Given the description of an element on the screen output the (x, y) to click on. 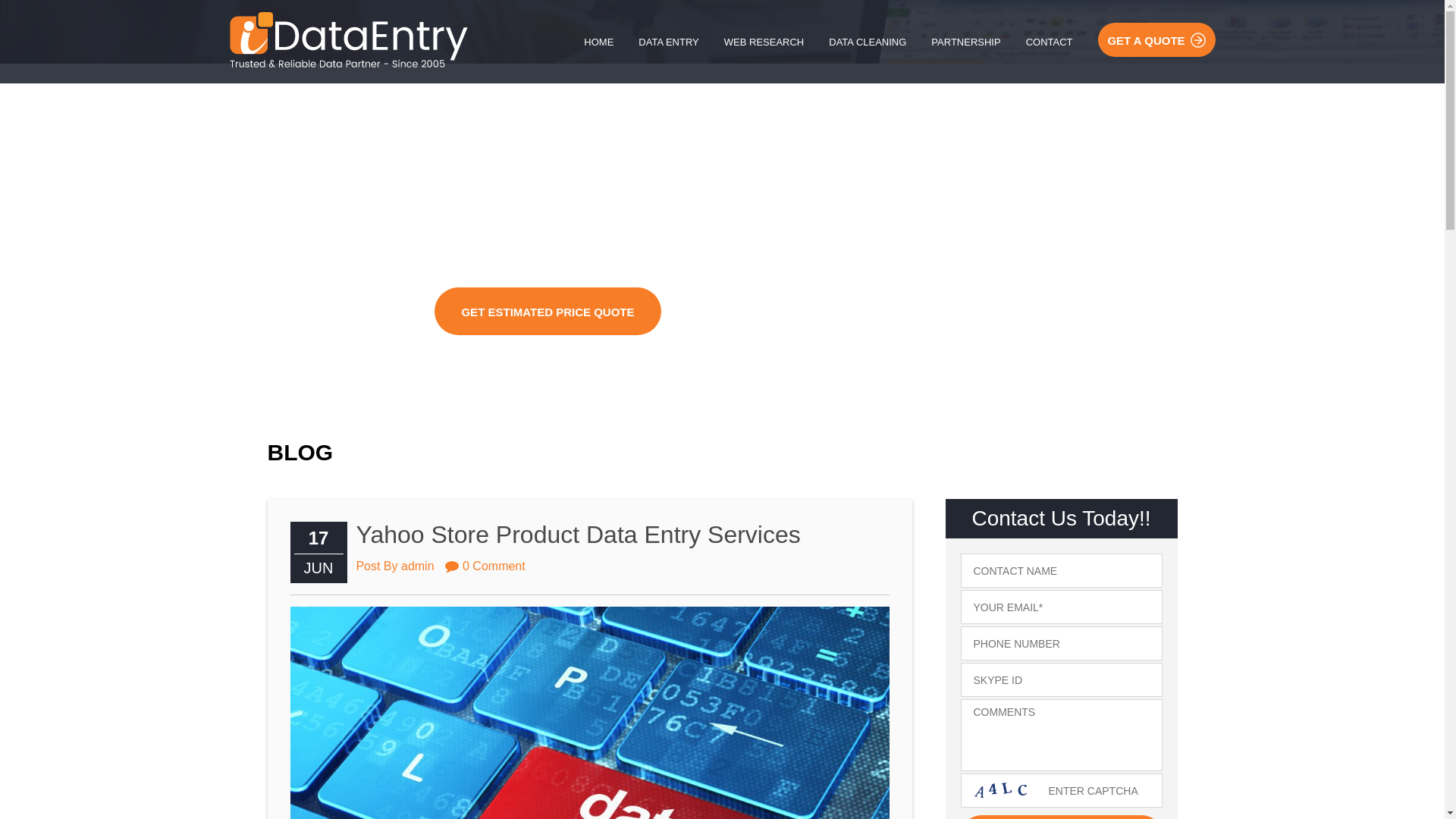
WEB RESEARCH (763, 41)
DATA ENTRY (668, 41)
GET A QUOTE (1156, 39)
GET ESTIMATED PRICE QUOTE (547, 310)
DATA CLEANING (867, 41)
PARTNERSHIP (965, 41)
Datacleaningservices (347, 39)
Contact us today (1060, 816)
0 Comment (485, 564)
Contact us today (1060, 816)
